Given the description of an element on the screen output the (x, y) to click on. 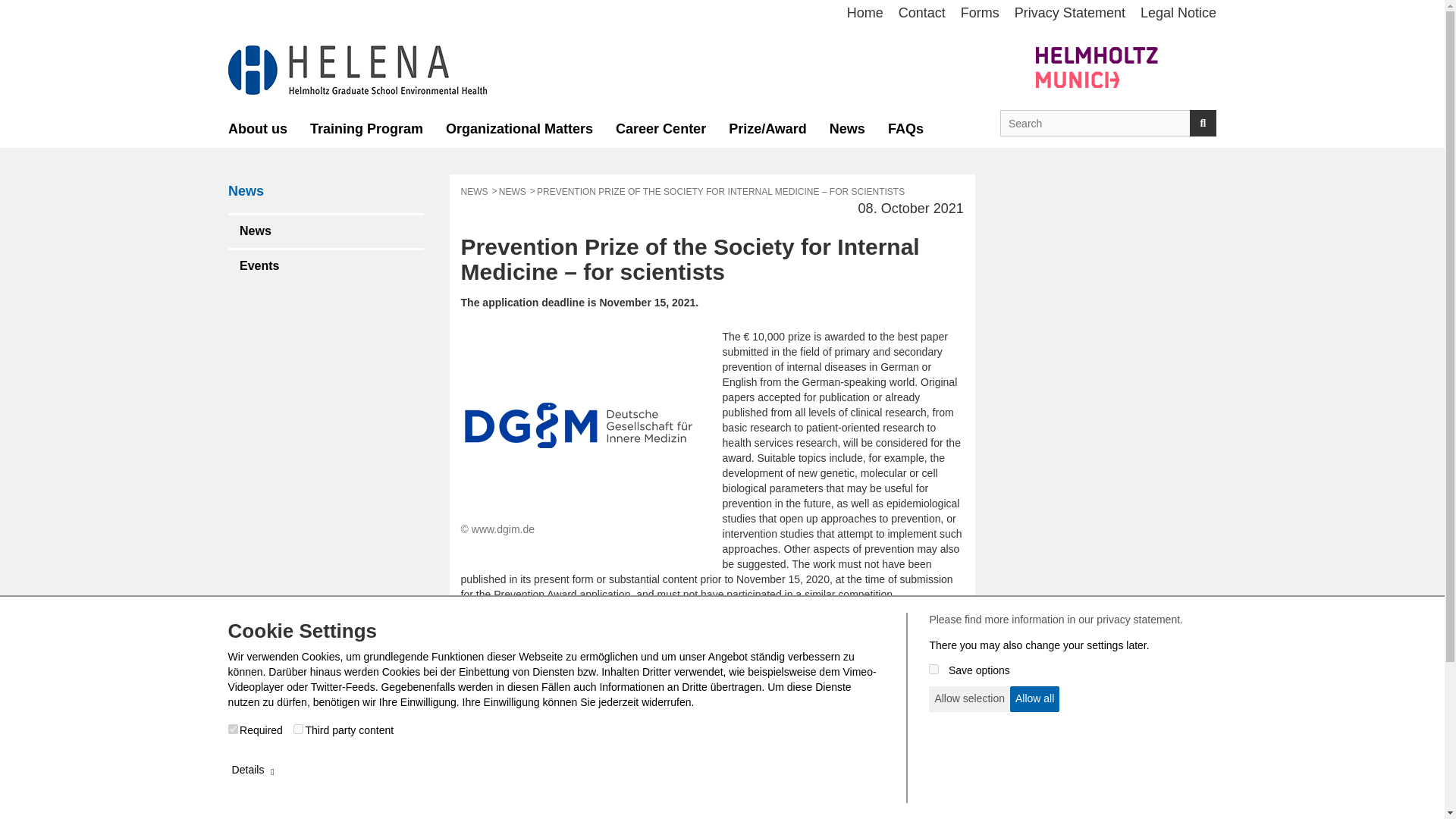
Privacy Statement (1069, 13)
Home (865, 13)
By clicking this link you leave this webiste (980, 13)
By clicking this link you leave this webiste (660, 128)
Contact (922, 13)
By clicking this link you leave this webiste (643, 662)
Legal Notice (1173, 13)
By clicking this link you leave this webiste (848, 786)
1 (233, 728)
Organizational Matters (518, 128)
